Given the description of an element on the screen output the (x, y) to click on. 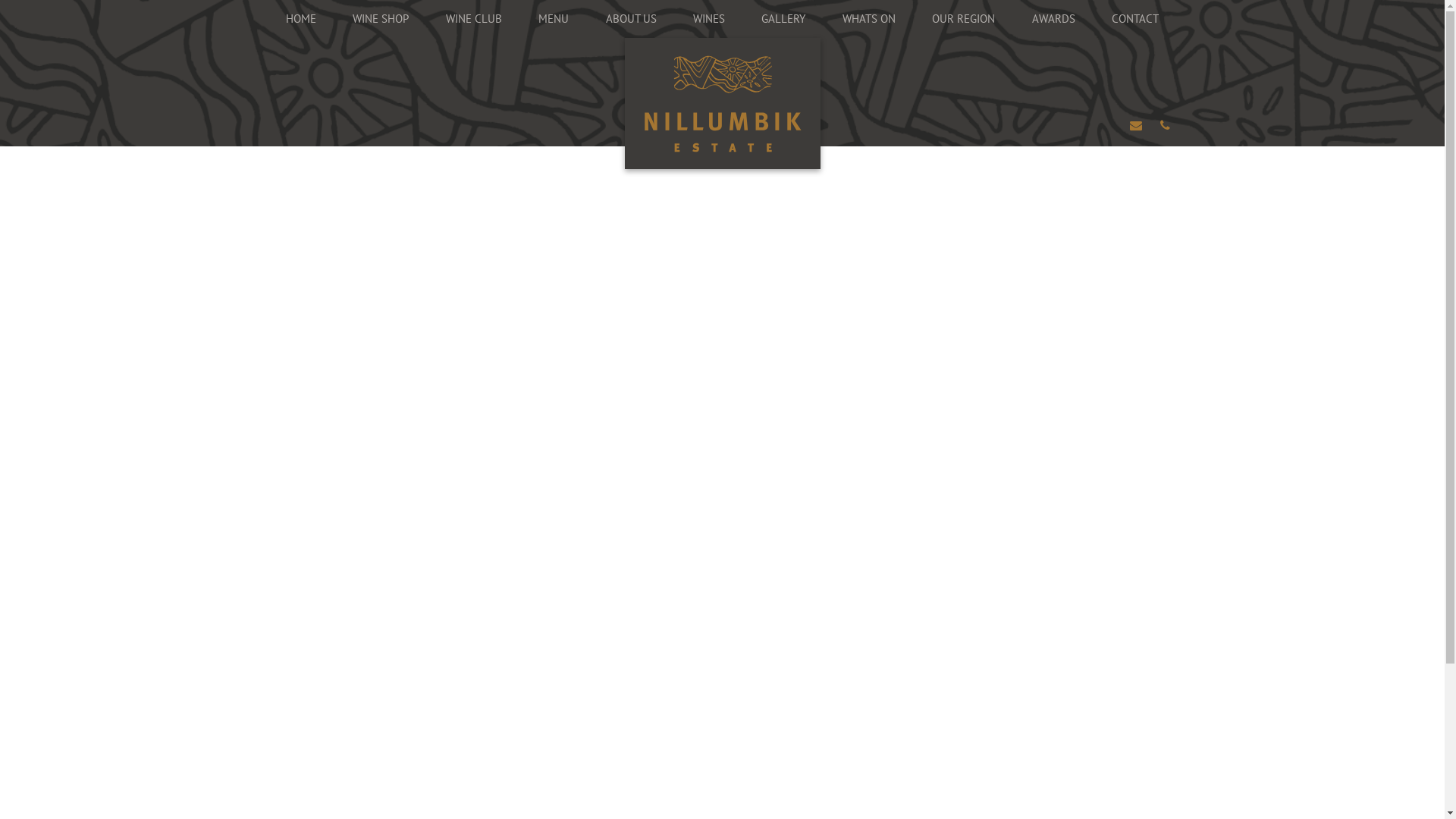
WHATS ON Element type: text (868, 18)
ABOUT US Element type: text (630, 18)
CONTACT Element type: text (1134, 18)
OUR REGION Element type: text (963, 18)
GALLERY Element type: text (783, 18)
WINES Element type: text (708, 18)
MENU Element type: text (553, 18)
AWARDS Element type: text (1053, 18)
WINE CLUB Element type: text (472, 18)
WINE SHOP Element type: text (380, 18)
HOME Element type: text (299, 18)
